Given the description of an element on the screen output the (x, y) to click on. 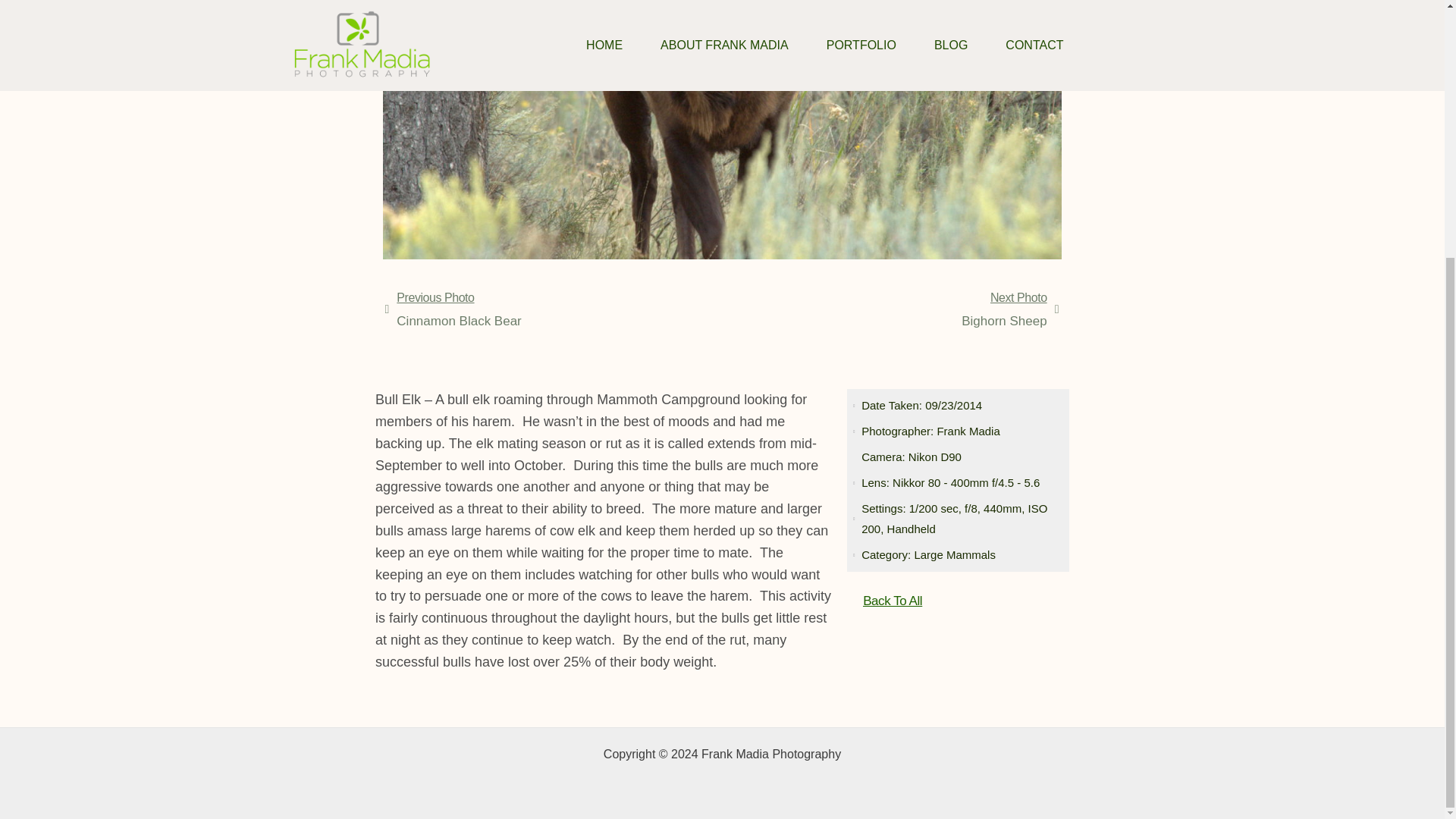
Back To All (553, 309)
Large Mammals (892, 601)
